Given the description of an element on the screen output the (x, y) to click on. 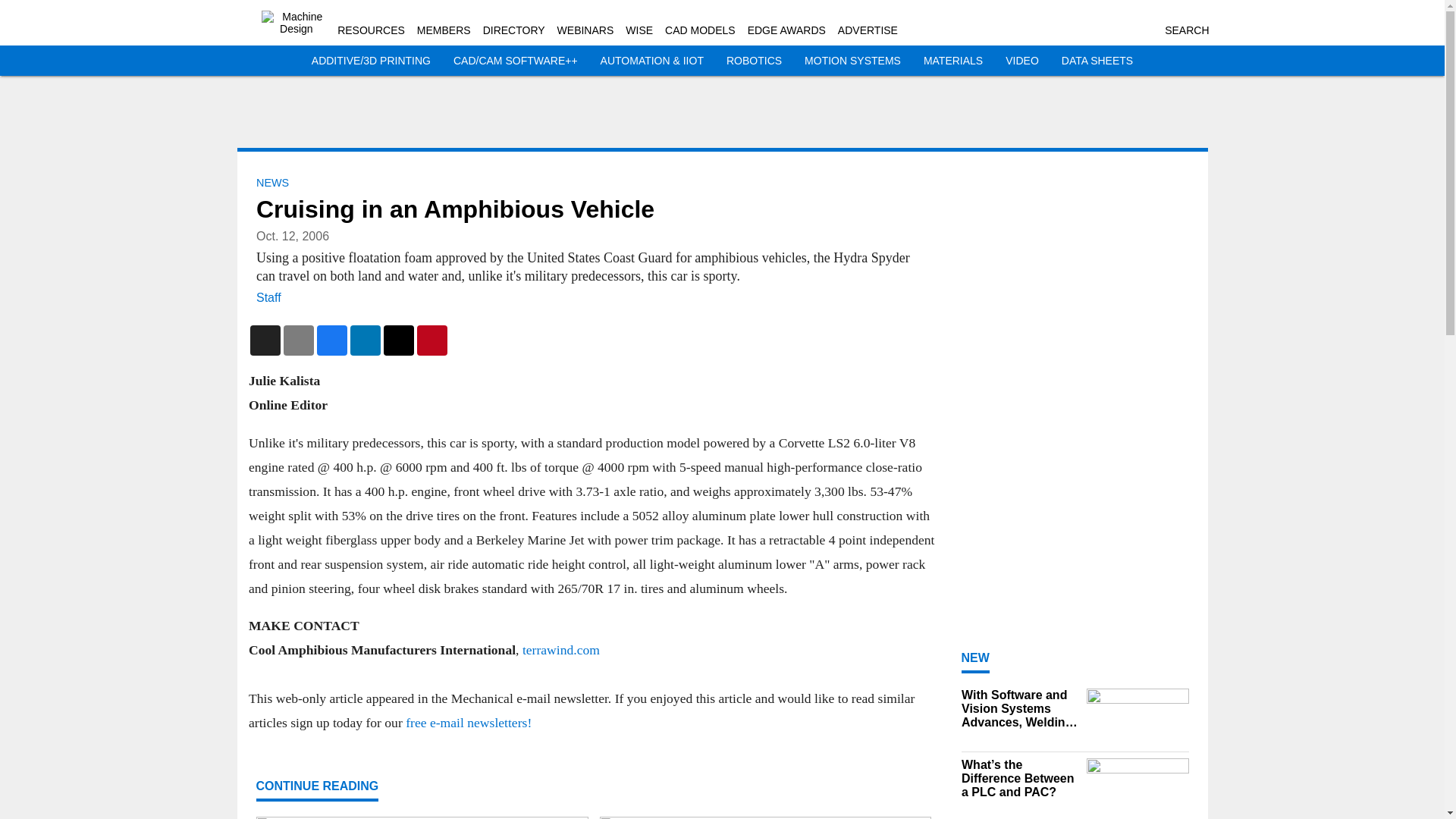
MOTION SYSTEMS (853, 60)
terrawind.com (559, 649)
WEBINARS (585, 30)
MATERIALS (952, 60)
ROBOTICS (753, 60)
Staff (268, 297)
DATA SHEETS (1096, 60)
NEWS (272, 182)
MEMBERS (443, 30)
VIDEO (1022, 60)
